Given the description of an element on the screen output the (x, y) to click on. 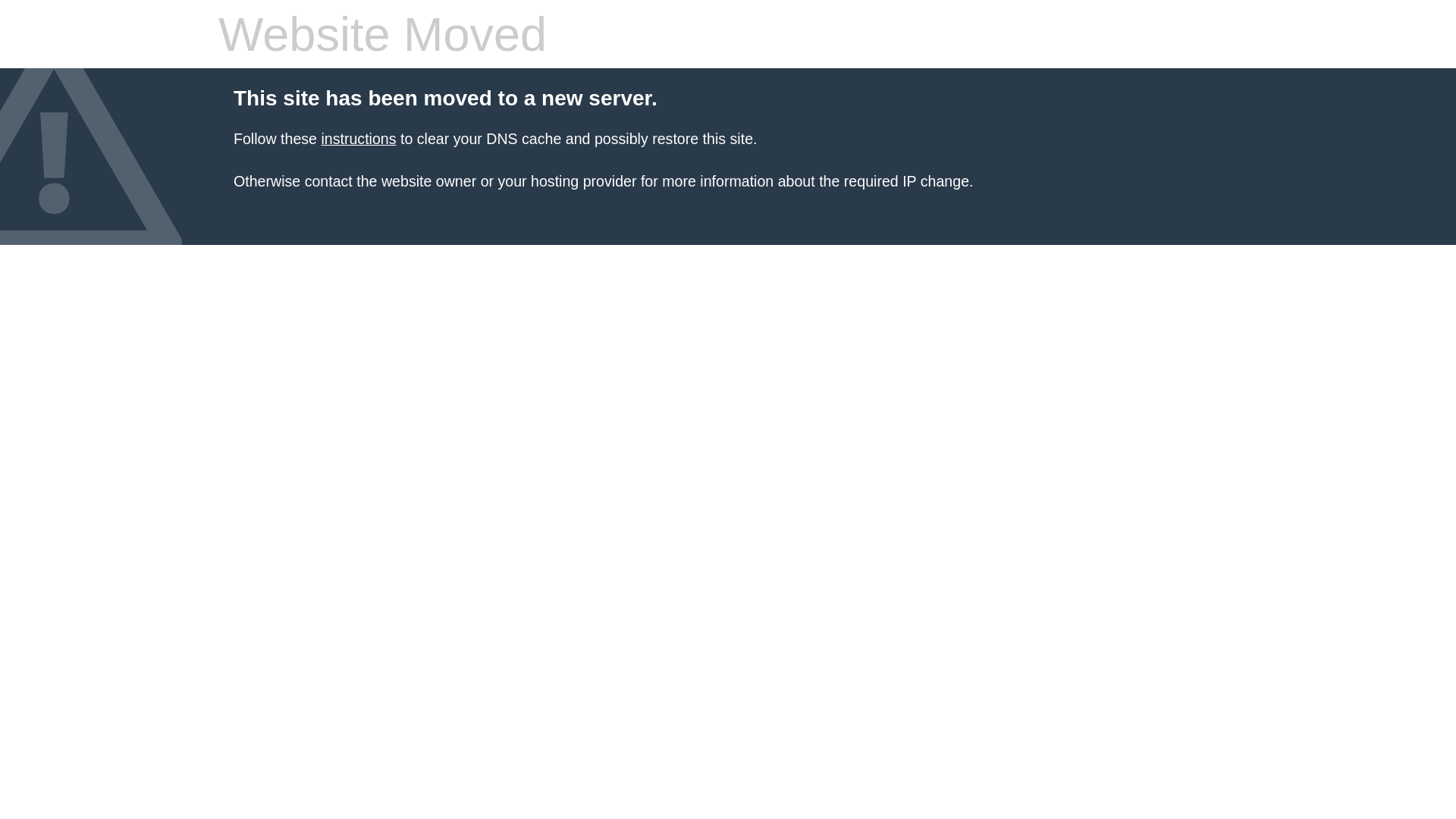
instructions Element type: text (357, 138)
